Given the description of an element on the screen output the (x, y) to click on. 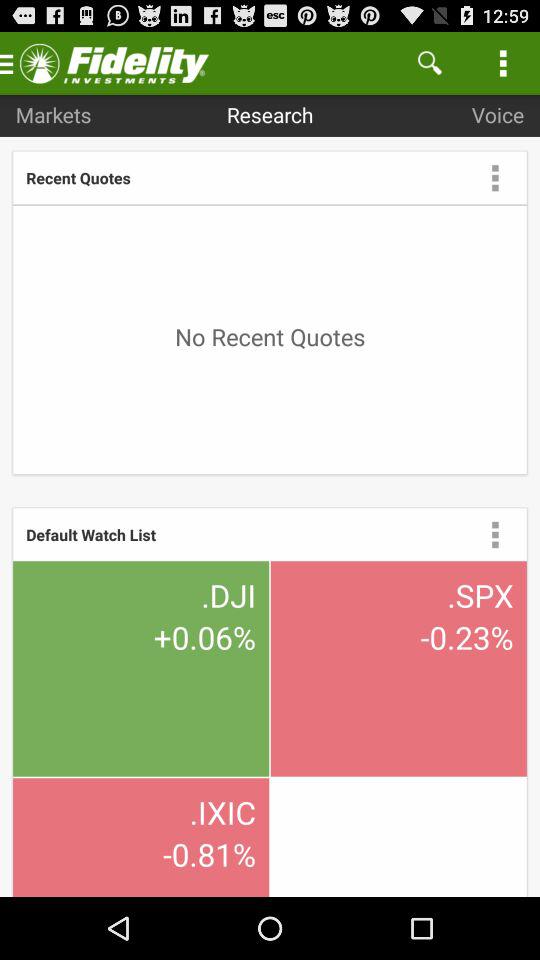
jump to markets app (53, 114)
